Given the description of an element on the screen output the (x, y) to click on. 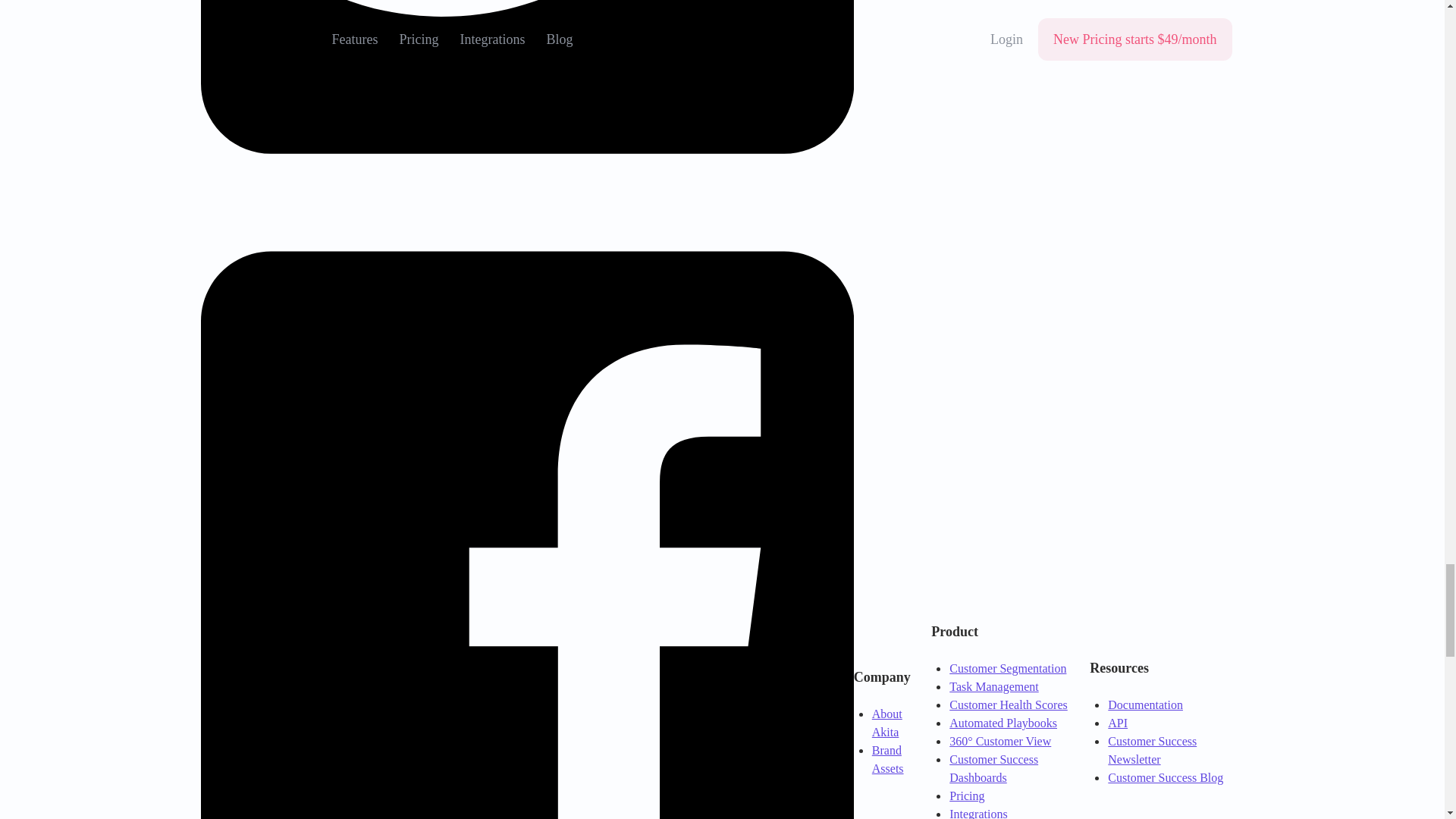
Twitter Square (526, 195)
Task Management (994, 686)
API (1117, 722)
Integrations (978, 813)
Documentation (1145, 704)
Customer Success Dashboards (993, 767)
Customer Segmentation (1007, 667)
Brand Assets (888, 758)
Pricing (966, 795)
Customer Health Scores (1008, 704)
